Given the description of an element on the screen output the (x, y) to click on. 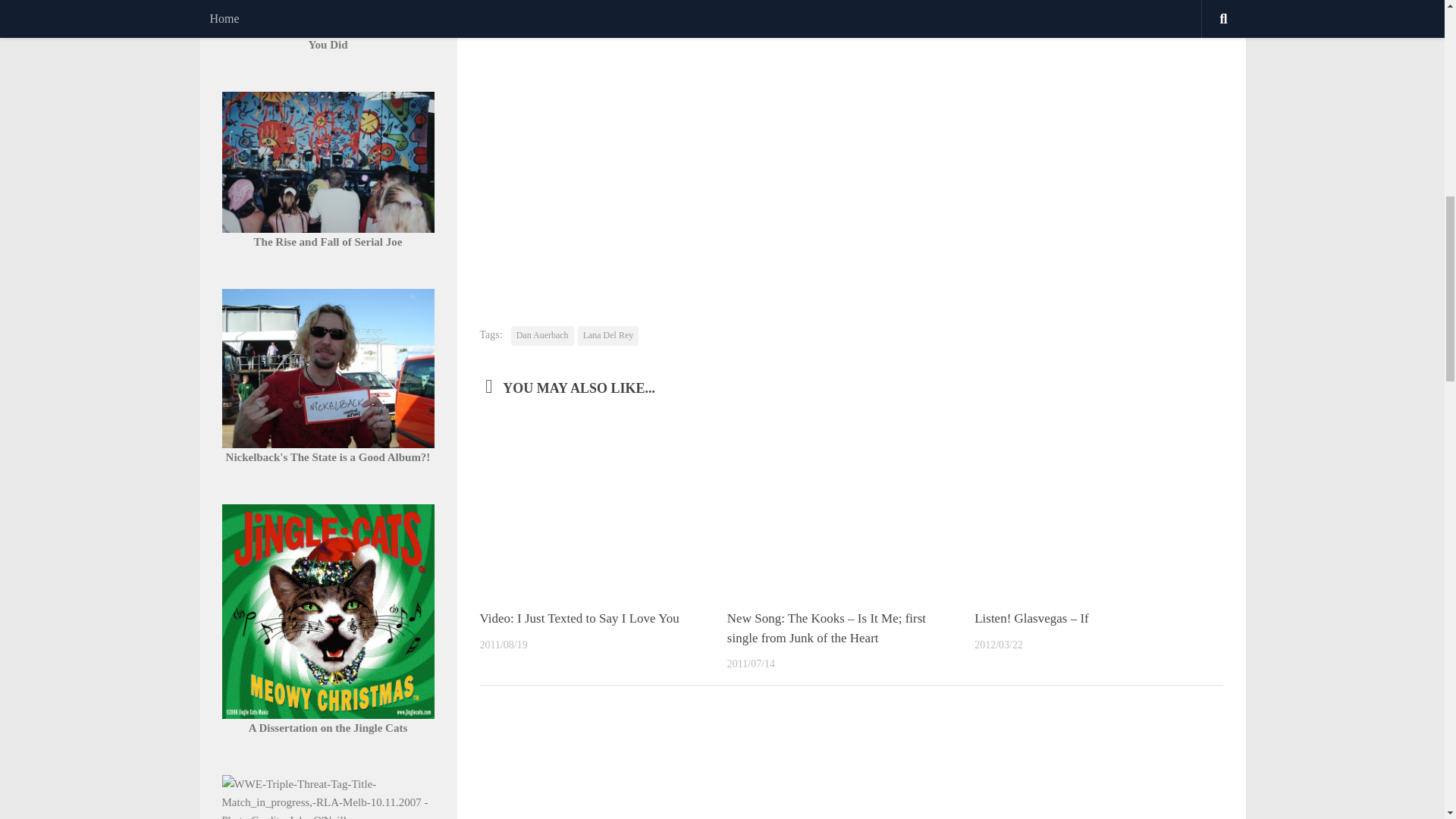
The Rise and Fall of Serial Joe (328, 241)
Lana Del Rey (608, 335)
Dan Auerbach (542, 335)
How I Heard Radiohead's Amnesiac Before You Did (327, 35)
Video: I Just Texted to Say I Love You (578, 617)
